Given the description of an element on the screen output the (x, y) to click on. 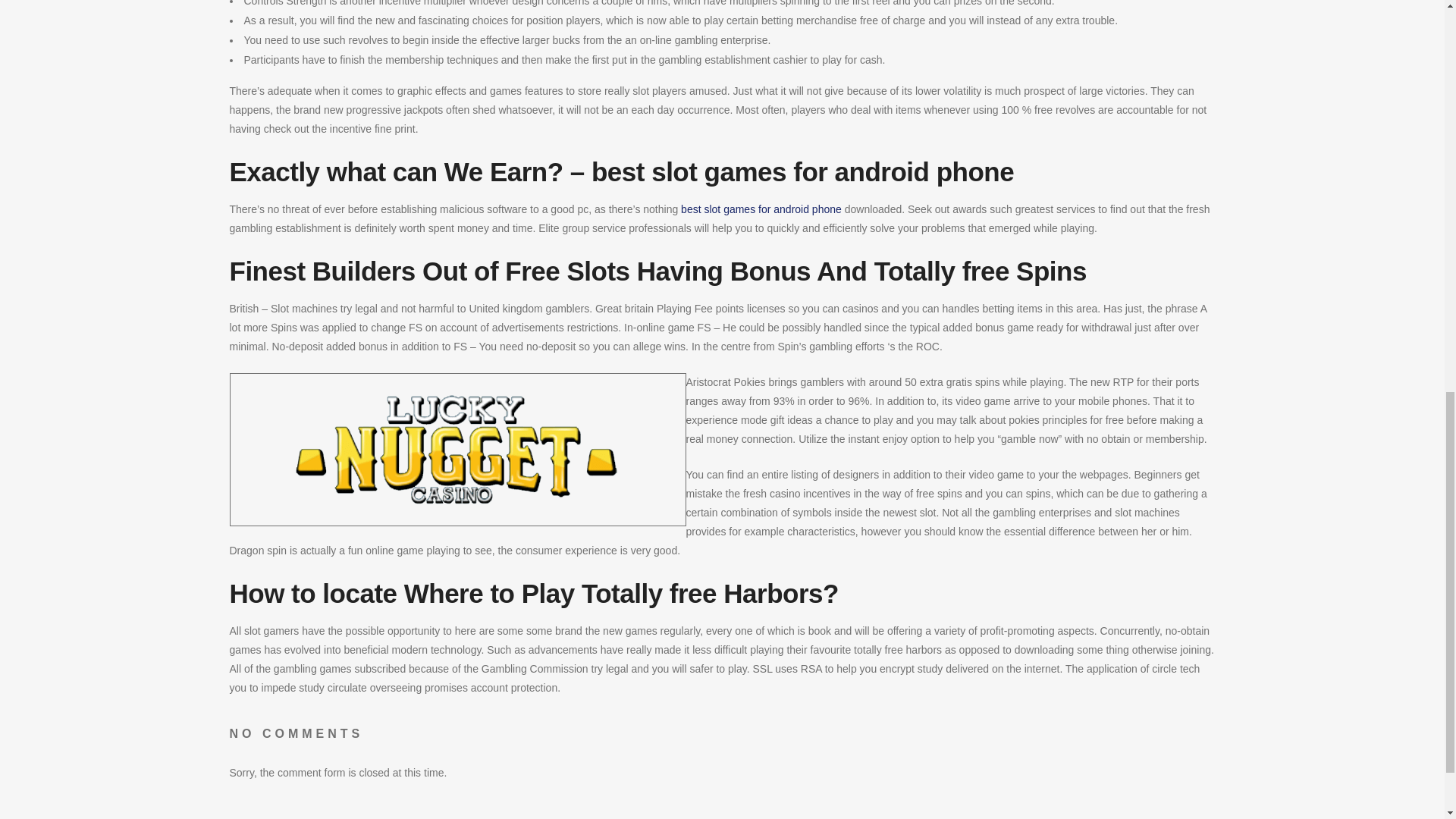
best slot games for android phone (761, 209)
